Given the description of an element on the screen output the (x, y) to click on. 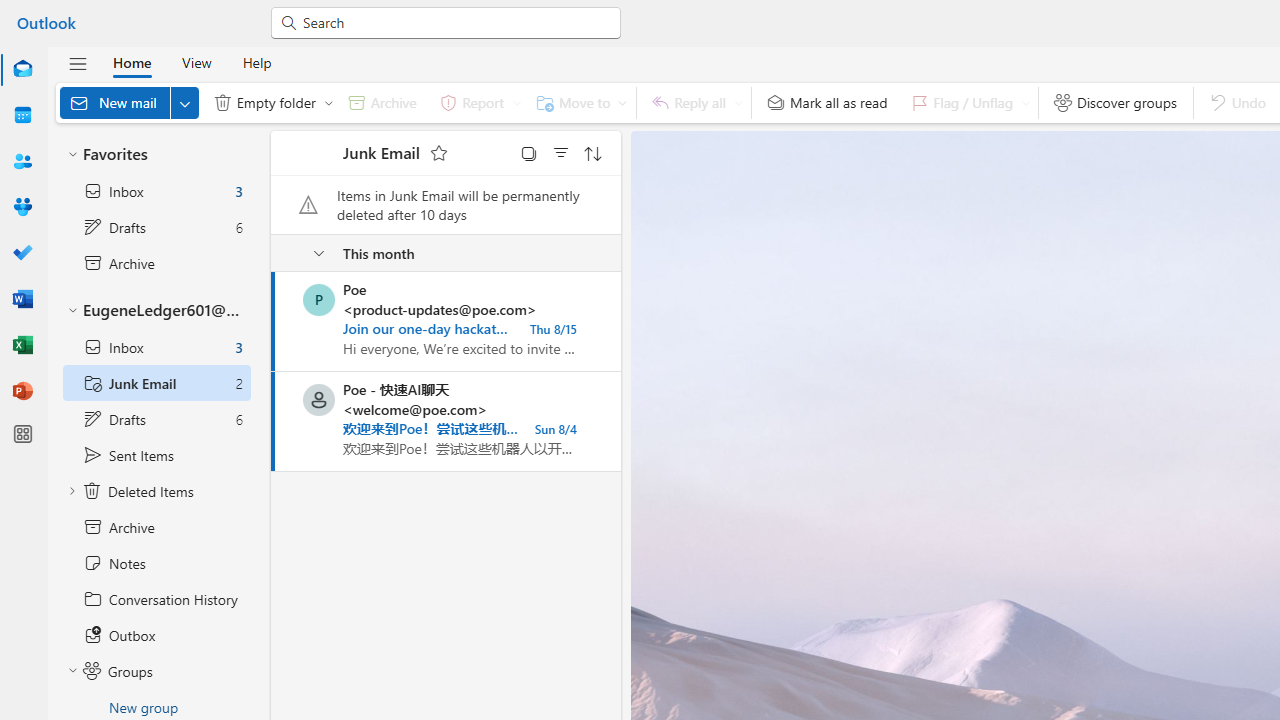
System (10, 11)
Deleted Items (156, 491)
Hide navigation pane (77, 63)
Expand to see delete options (328, 102)
Expand to see more report options (516, 102)
More apps (22, 434)
To Do (22, 254)
Report (475, 102)
Mark as read (273, 421)
Select (529, 152)
Discover groups (1115, 102)
New mail (129, 102)
Undo (1236, 102)
Outbox (156, 635)
System (10, 11)
